Given the description of an element on the screen output the (x, y) to click on. 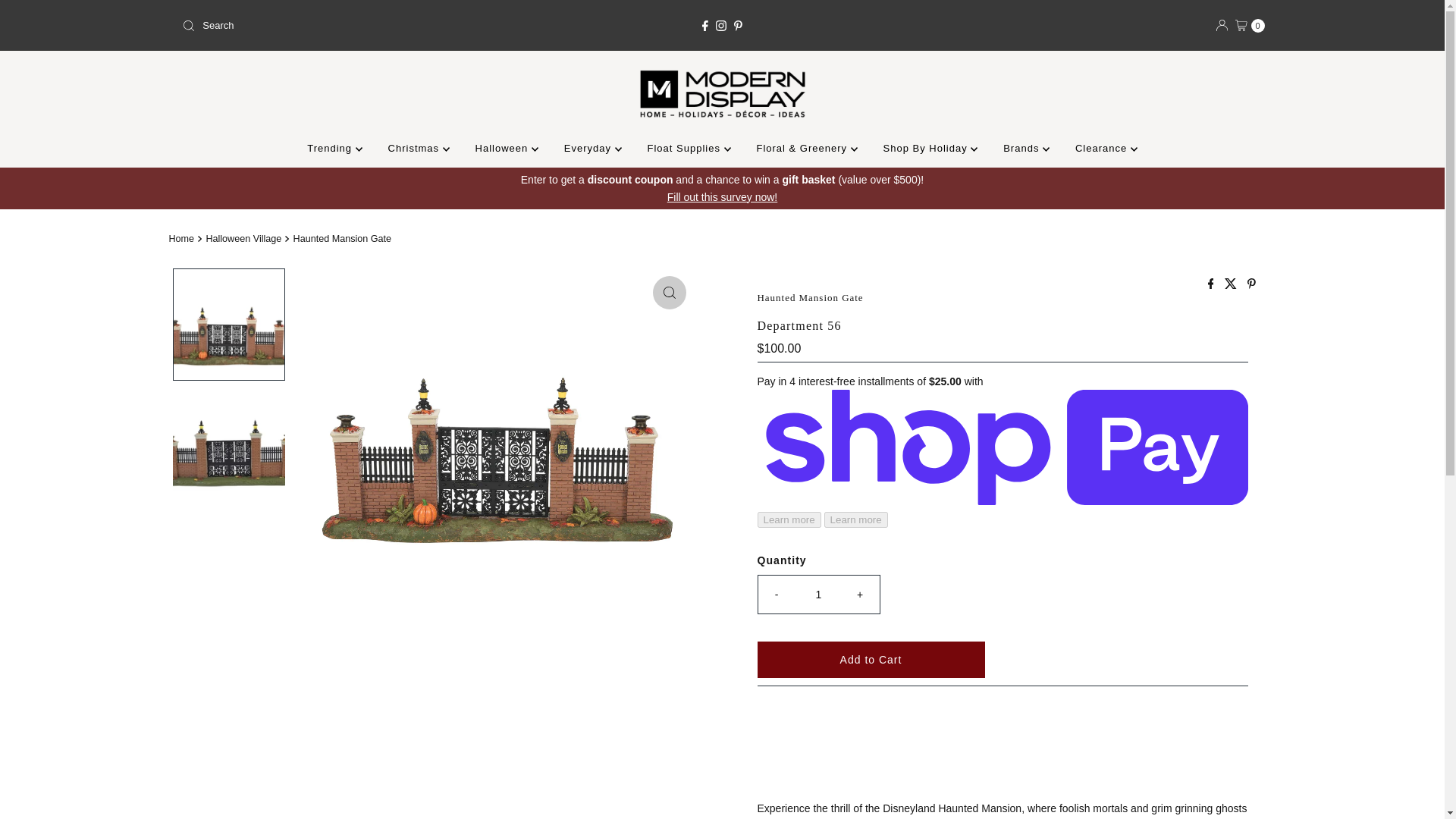
Share on Twitter (1232, 284)
Add to Cart (870, 659)
Instagram (721, 25)
Search our store (353, 25)
Halloween Village (245, 238)
Skip to content (51, 18)
1 (818, 594)
Back to the frontpage (183, 238)
